Given the description of an element on the screen output the (x, y) to click on. 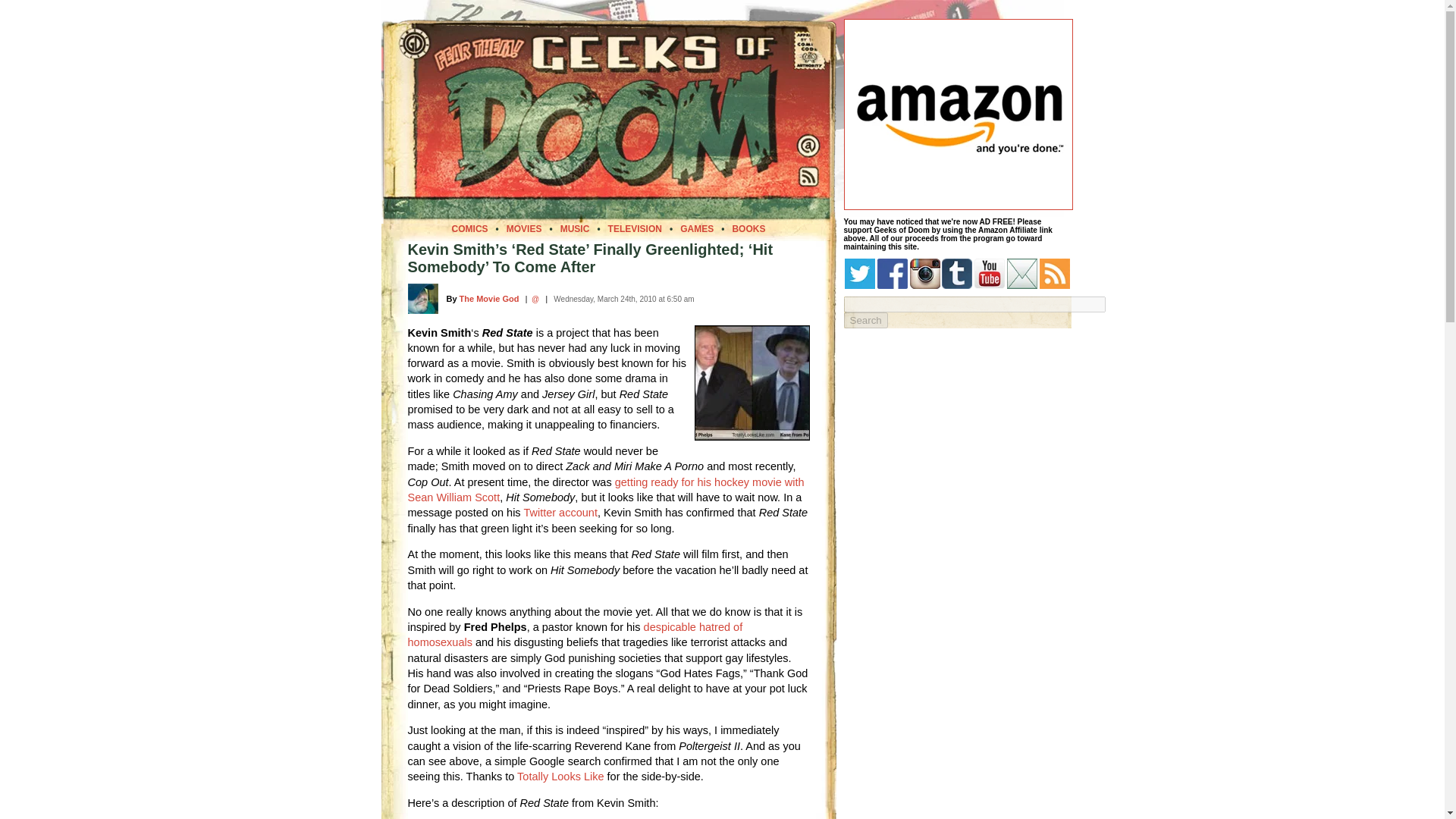
View The Movie God's profile (489, 298)
despicable hatred of homosexuals (574, 634)
COMICS (469, 228)
The Movie God (489, 298)
Follow Geeks of Doom on Twitter (859, 273)
getting ready for his hockey movie with Sean William Scott (606, 489)
MUSIC (574, 228)
TELEVISION (635, 228)
Follow Geeks of Doom on Facebook (892, 273)
Totally Looks Like (560, 776)
